Given the description of an element on the screen output the (x, y) to click on. 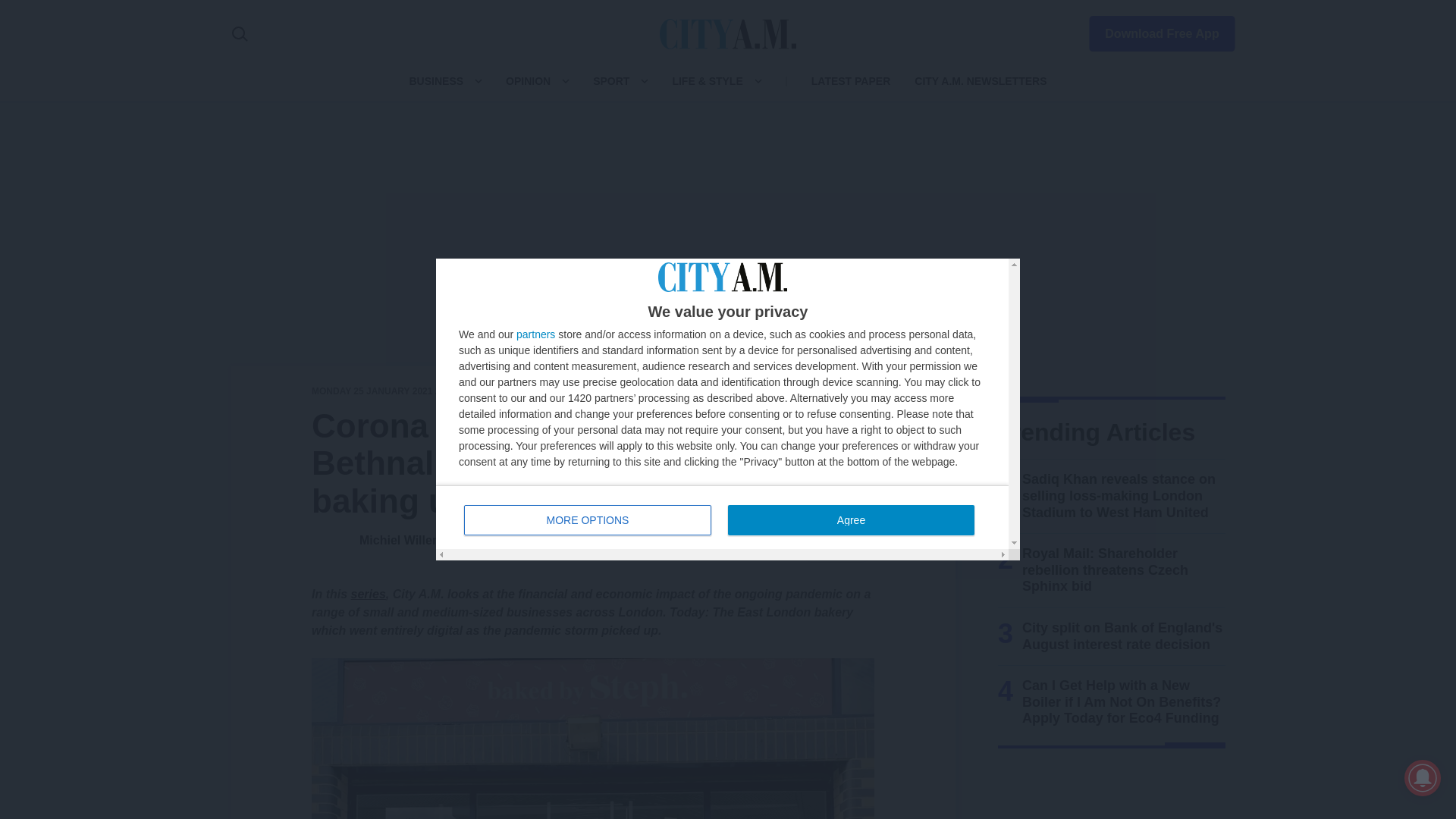
CityAM (727, 33)
OPINION (527, 80)
BUSINESS (436, 80)
Download Free App (1152, 30)
MORE OPTIONS (722, 516)
partners (587, 520)
Agree (535, 334)
